Given the description of an element on the screen output the (x, y) to click on. 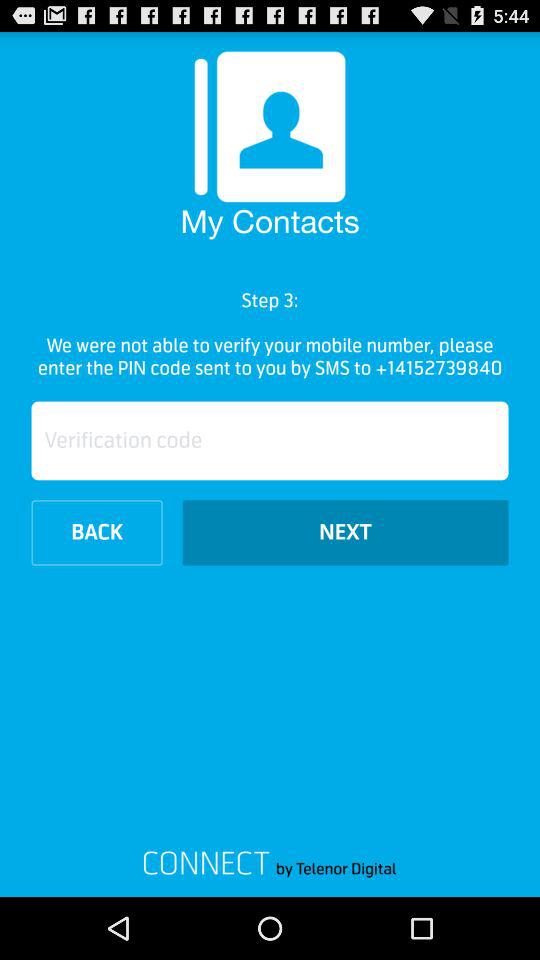
swipe until next (345, 532)
